Given the description of an element on the screen output the (x, y) to click on. 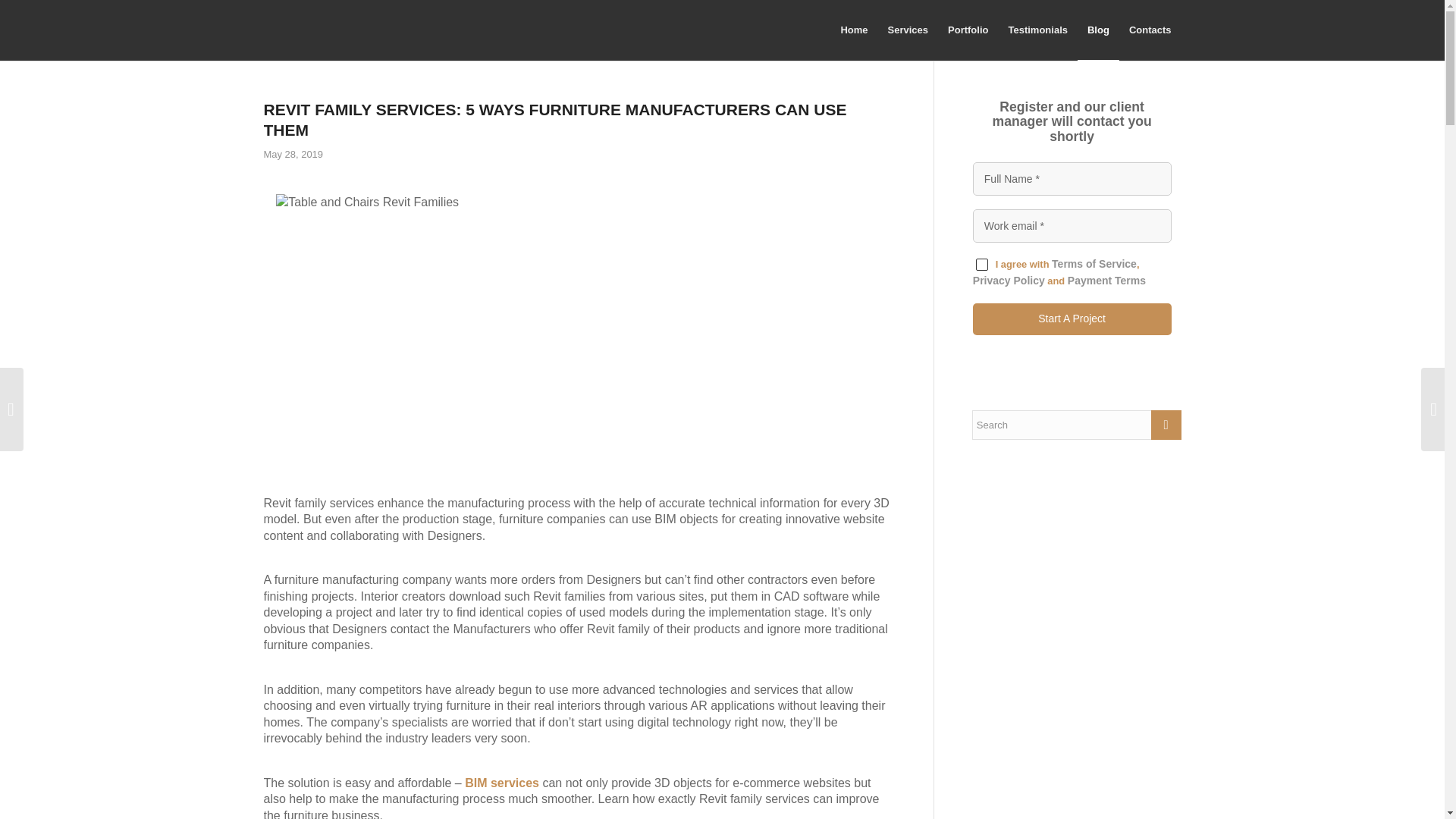
Portfolio (967, 30)
Terms of Service (1094, 263)
Contacts (1149, 30)
BIM services (501, 782)
checked (981, 264)
Testimonials (1037, 30)
Services (908, 30)
